Given the description of an element on the screen output the (x, y) to click on. 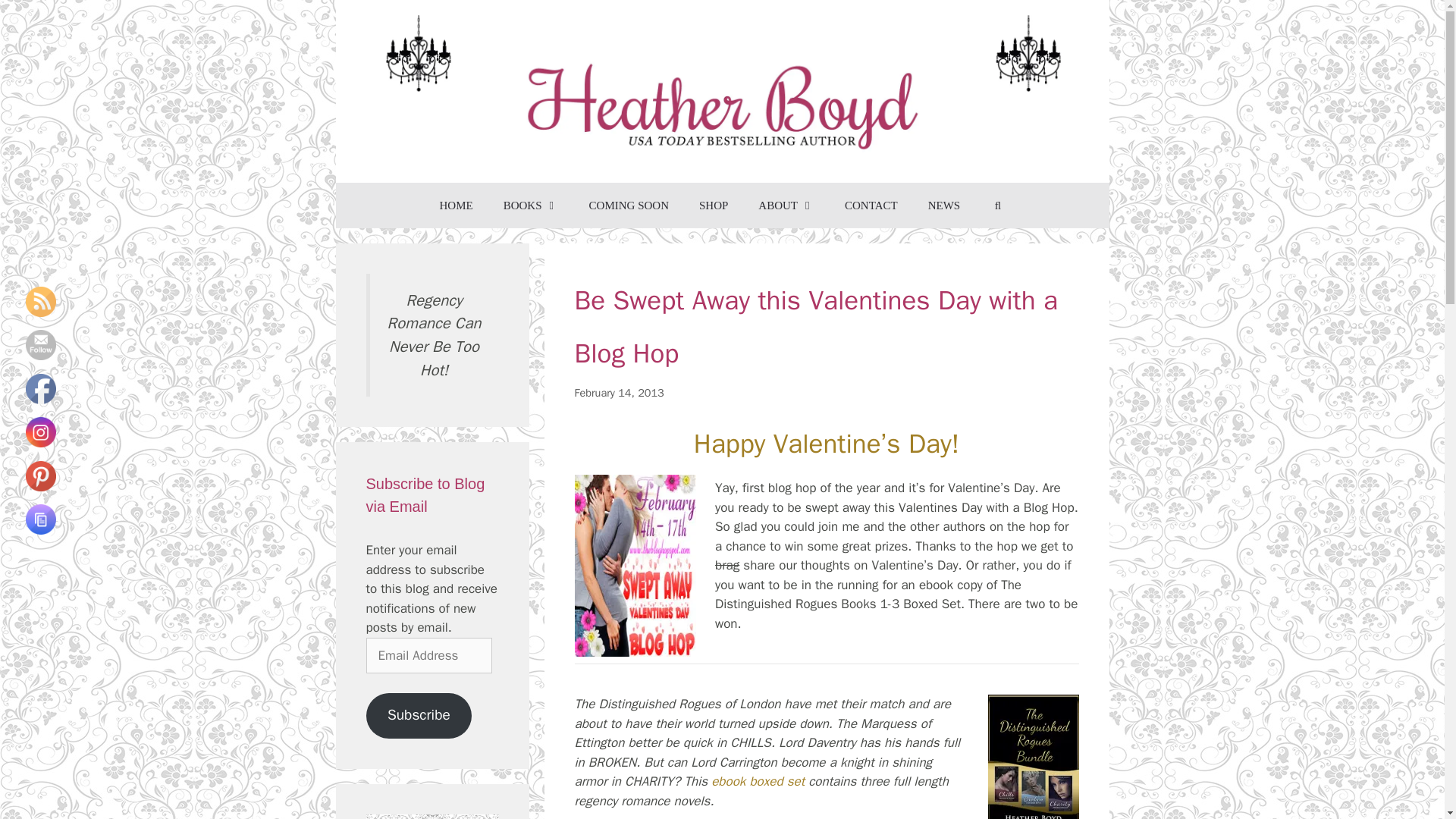
Instagram (41, 431)
RSS (41, 301)
Facebook (41, 388)
HOME (456, 205)
Pinterest (41, 476)
Follow by Email (41, 345)
COMING SOON (628, 205)
BOOKS (530, 205)
SHOP (713, 205)
